Given the description of an element on the screen output the (x, y) to click on. 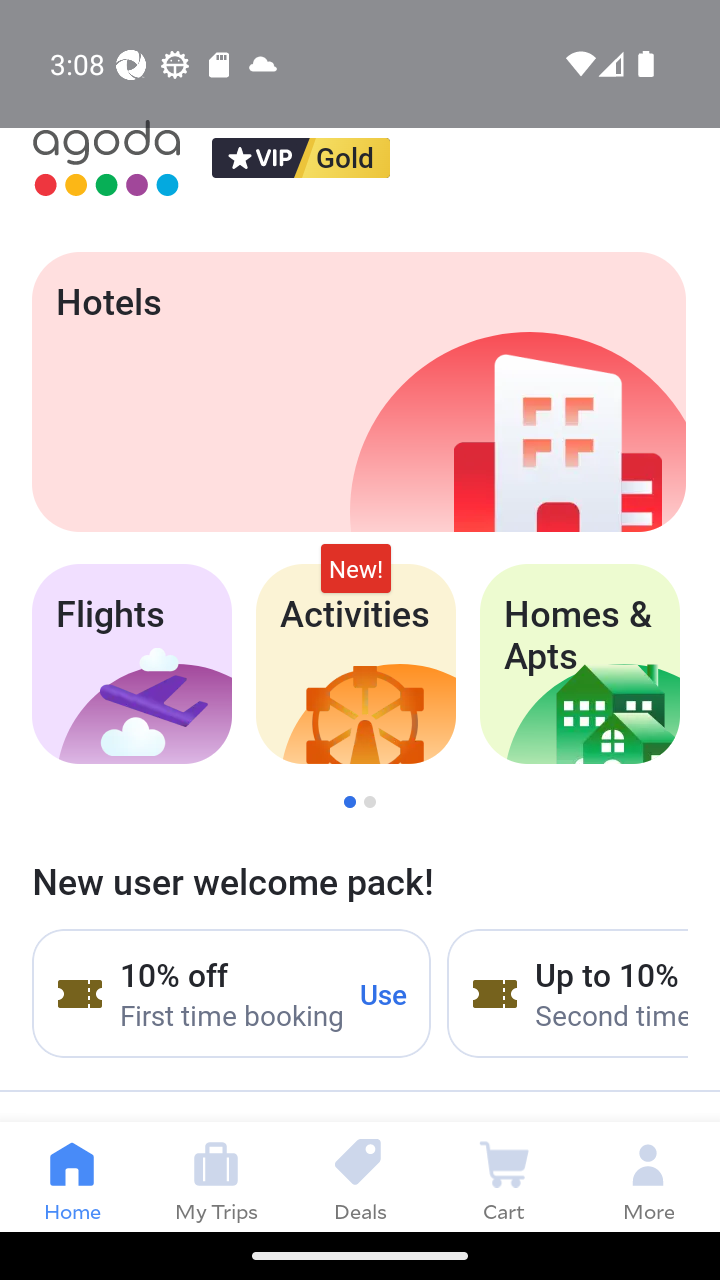
Hotels (358, 392)
New! (355, 568)
Flights (131, 664)
Activities (355, 664)
Homes & Apts (579, 664)
Use (384, 993)
Home (72, 1176)
My Trips (216, 1176)
Deals (360, 1176)
Cart (504, 1176)
More (648, 1176)
